Given the description of an element on the screen output the (x, y) to click on. 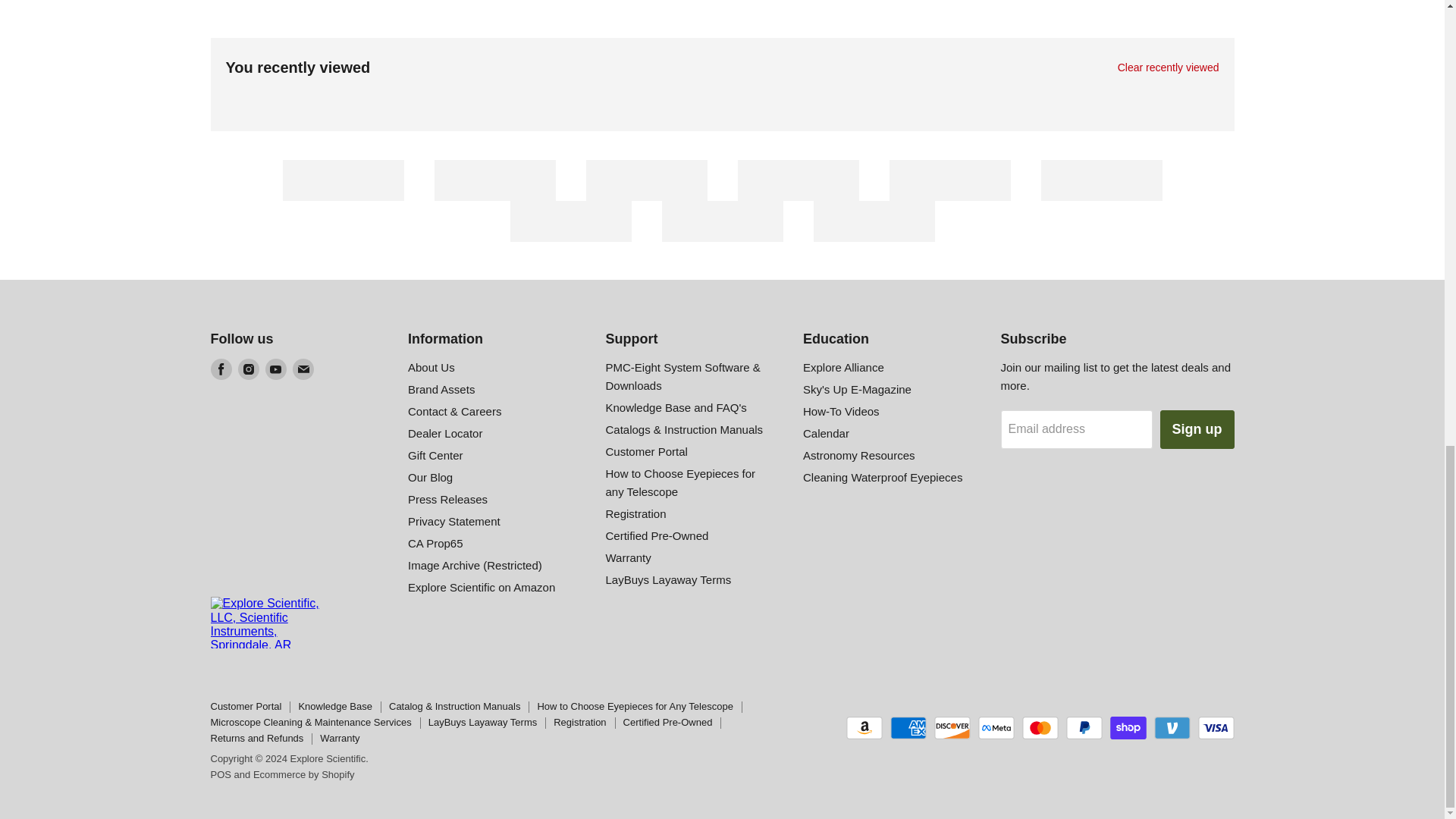
Instagram (248, 369)
Facebook (221, 369)
Email (303, 369)
Youtube (275, 369)
